Given the description of an element on the screen output the (x, y) to click on. 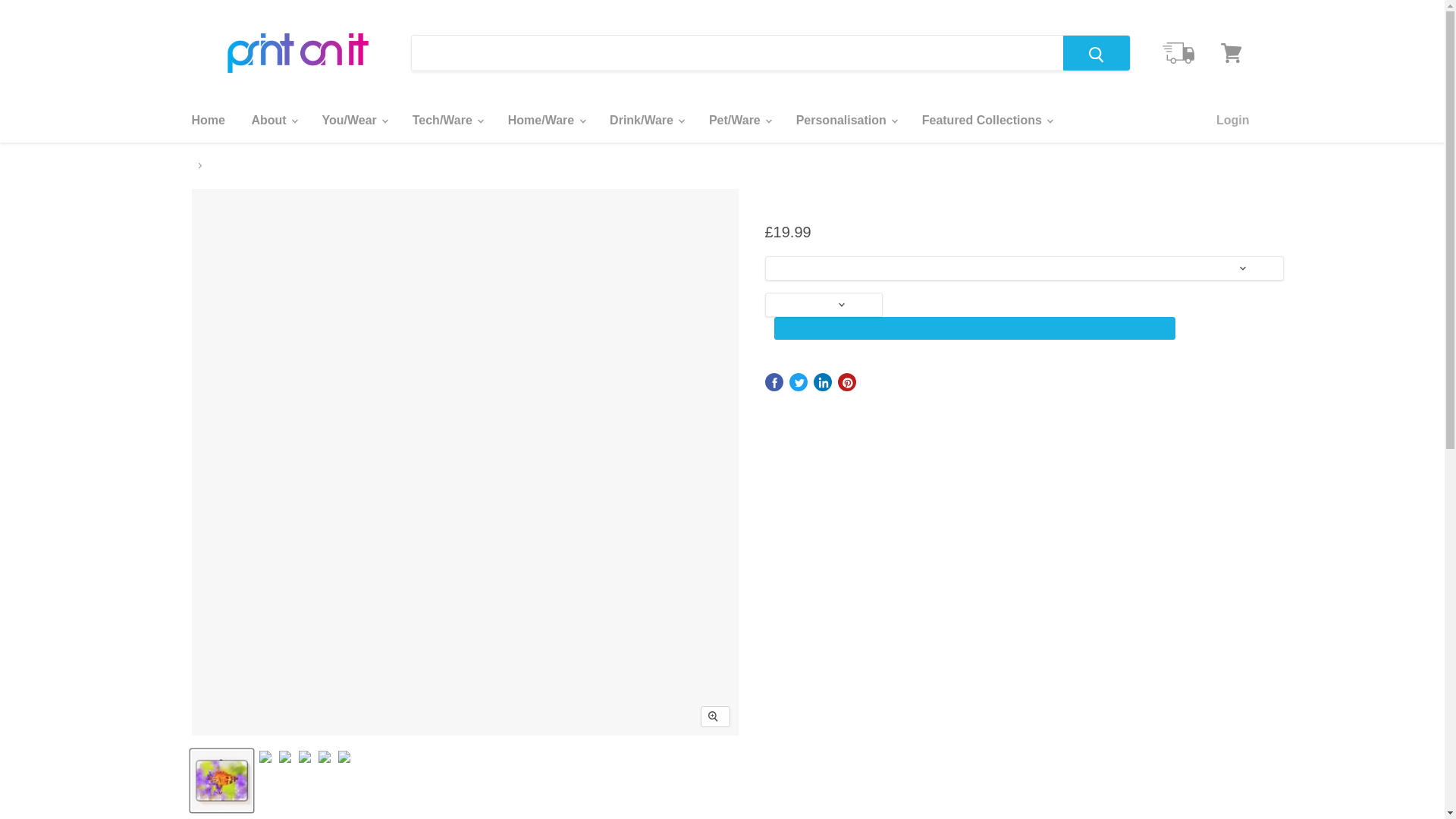
View cart (1230, 53)
About (273, 120)
Home (207, 120)
